Given the description of an element on the screen output the (x, y) to click on. 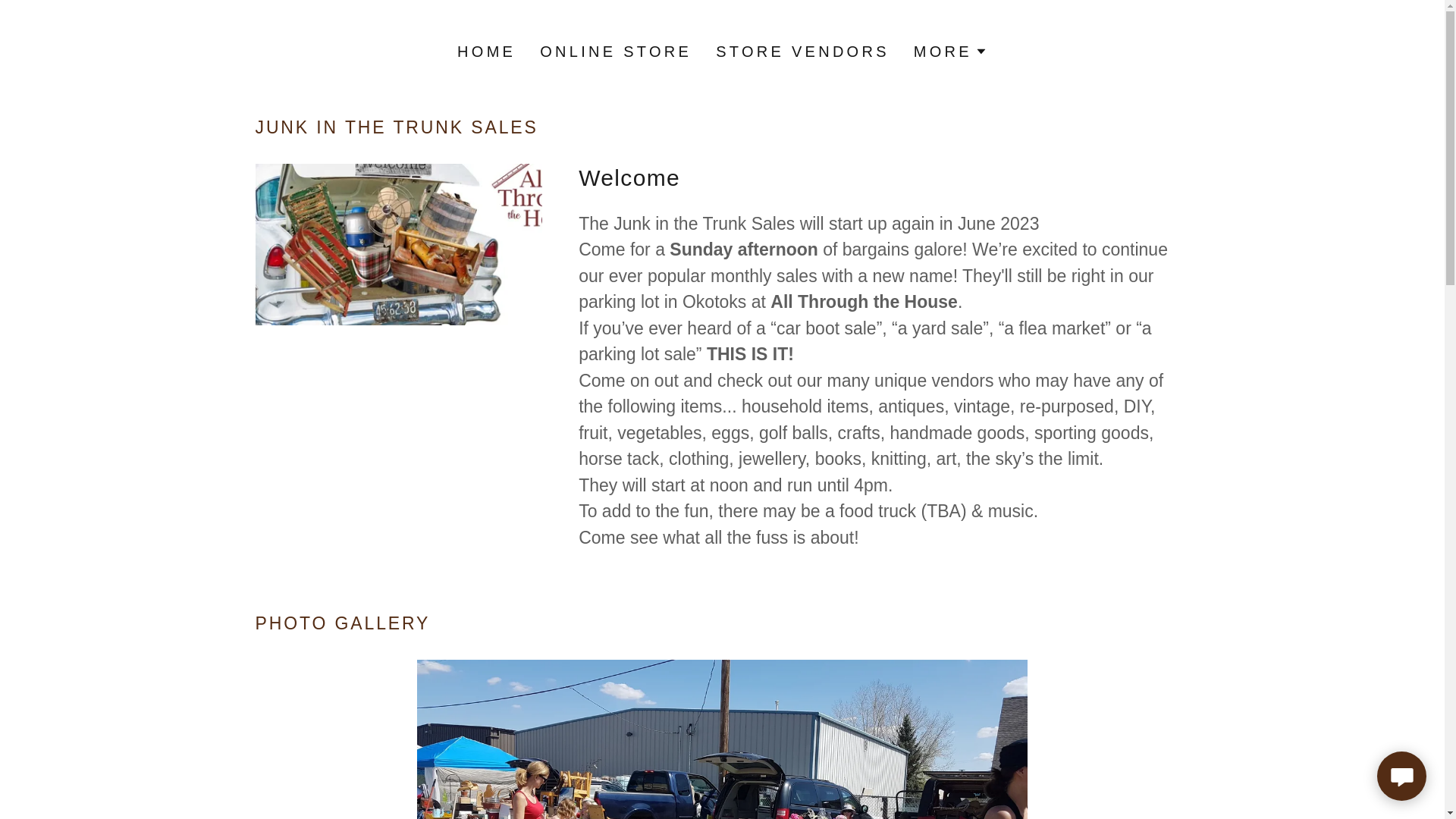
MORE Element type: text (950, 51)
ONLINE STORE Element type: text (615, 51)
HOME Element type: text (486, 51)
STORE VENDORS Element type: text (802, 51)
